Given the description of an element on the screen output the (x, y) to click on. 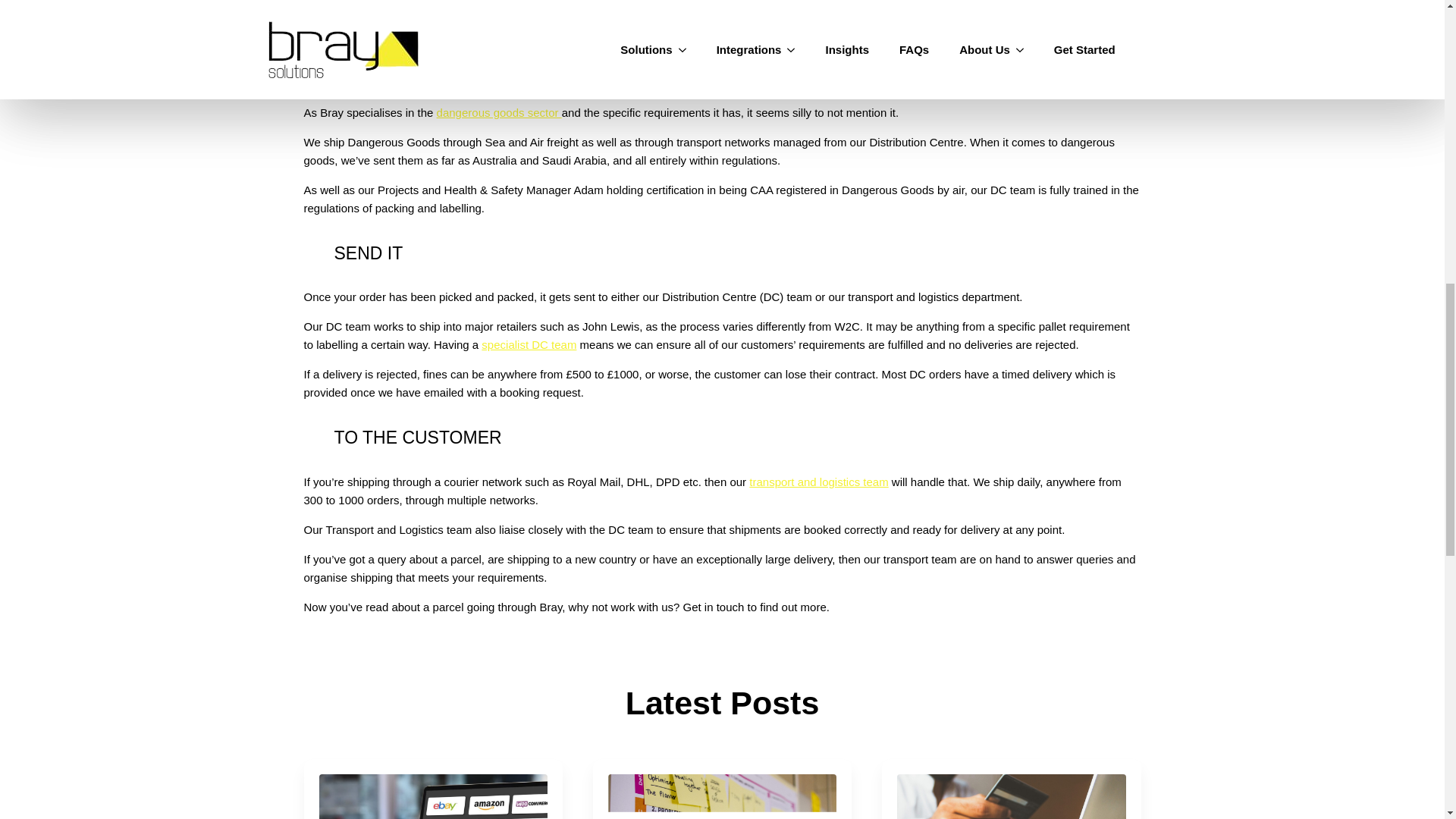
specialist DC team (528, 344)
dangerous goods sector  (499, 112)
transport and logistics team (818, 481)
